Given the description of an element on the screen output the (x, y) to click on. 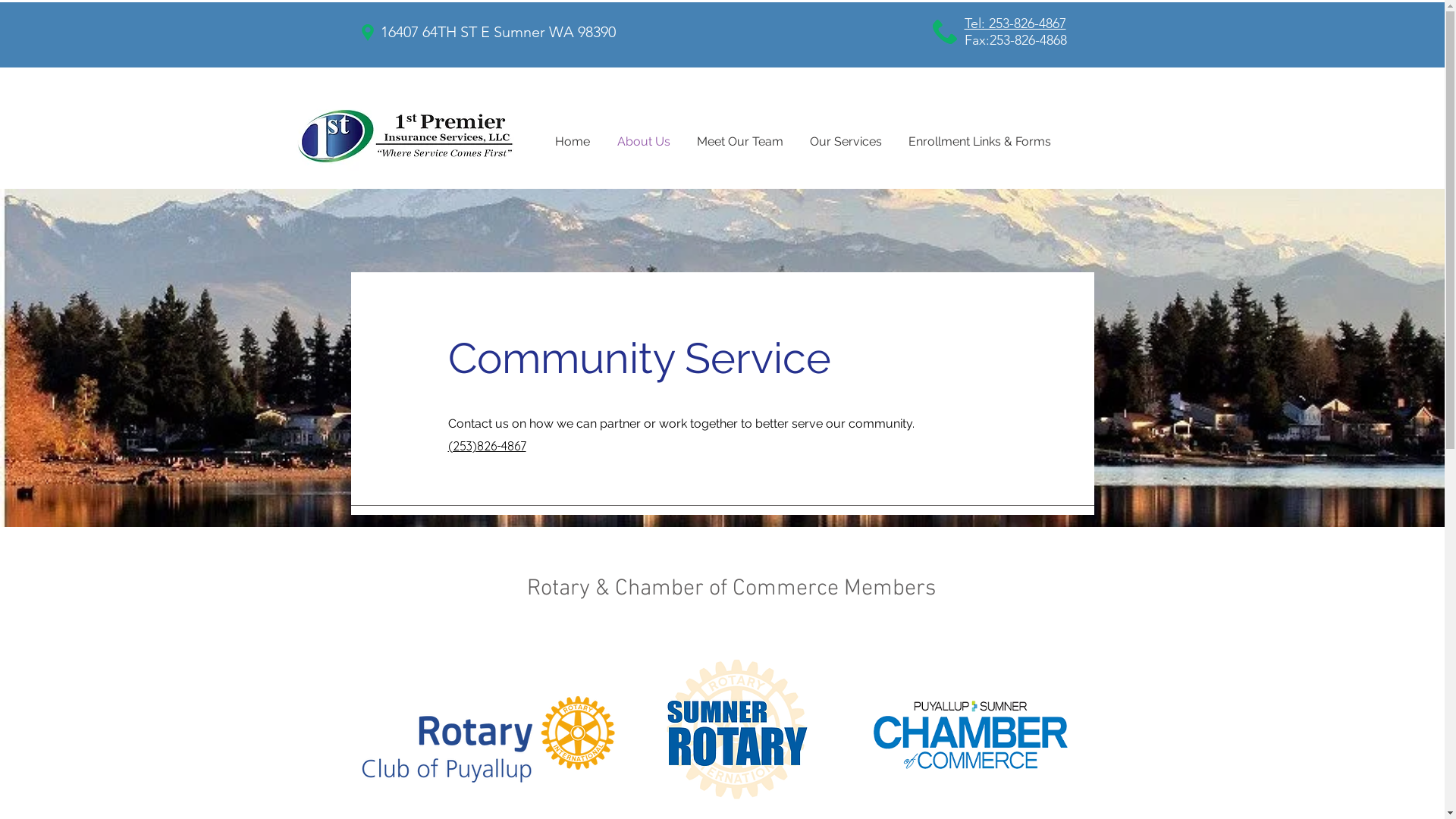
About Us Element type: text (643, 141)
(253)826-4867 Element type: text (486, 446)
Home Element type: text (572, 141)
sumner rotary.png Element type: hover (735, 728)
Our Services Element type: text (845, 141)
Meet Our Team Element type: text (740, 141)
1980x720.webp Element type: hover (488, 739)
Tel: 253-826-4867 Element type: text (1015, 23)
Enrollment Links & Forms Element type: text (978, 141)
